Given the description of an element on the screen output the (x, y) to click on. 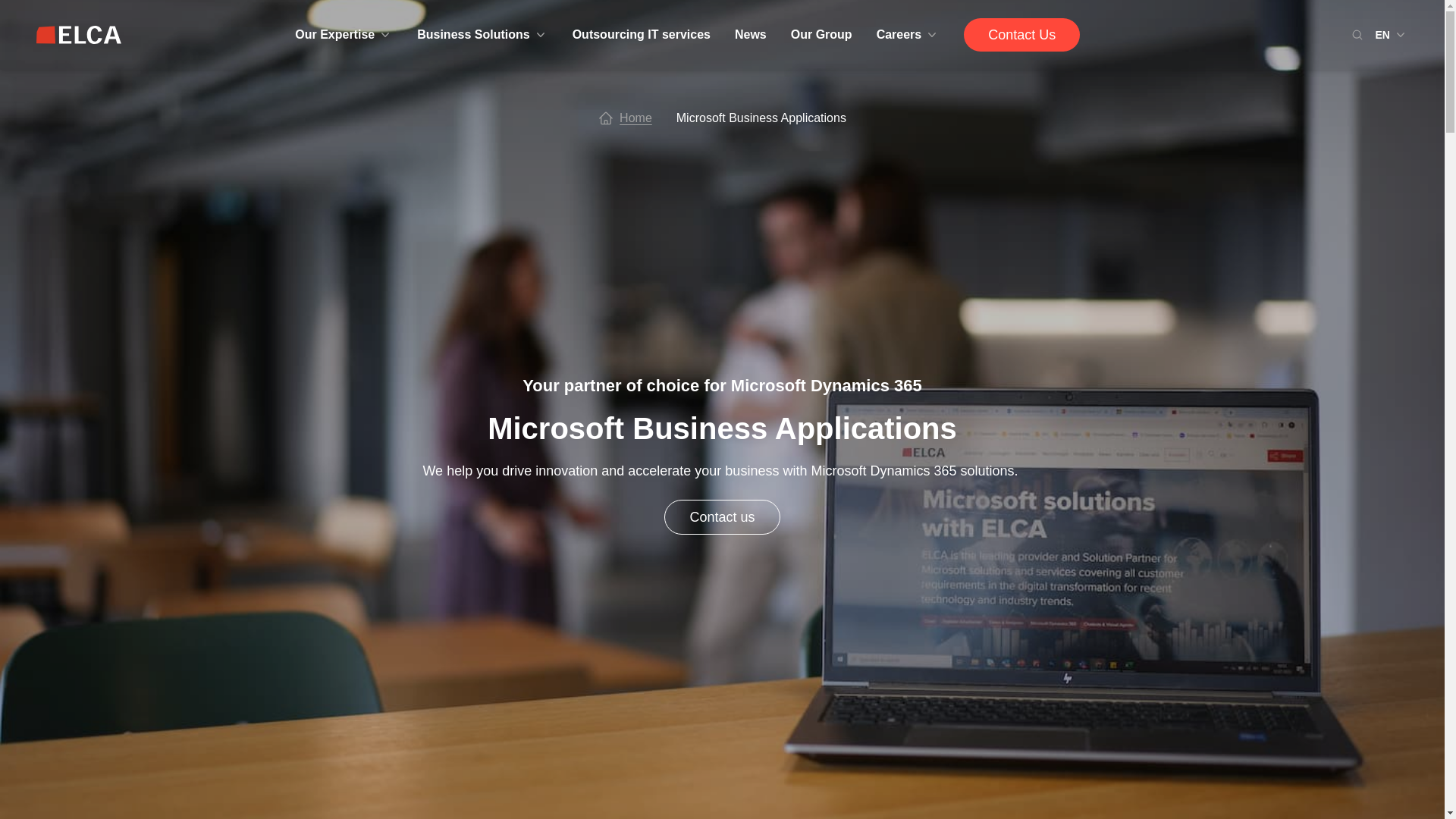
News (751, 34)
ELCA (78, 34)
Business Solutions (481, 34)
EN (1391, 34)
Outsourcing IT services (641, 34)
Careers (908, 34)
Contact us (720, 516)
Contact Us (1021, 34)
Home (636, 117)
Our Group (820, 34)
Our Expertise (344, 34)
